Given the description of an element on the screen output the (x, y) to click on. 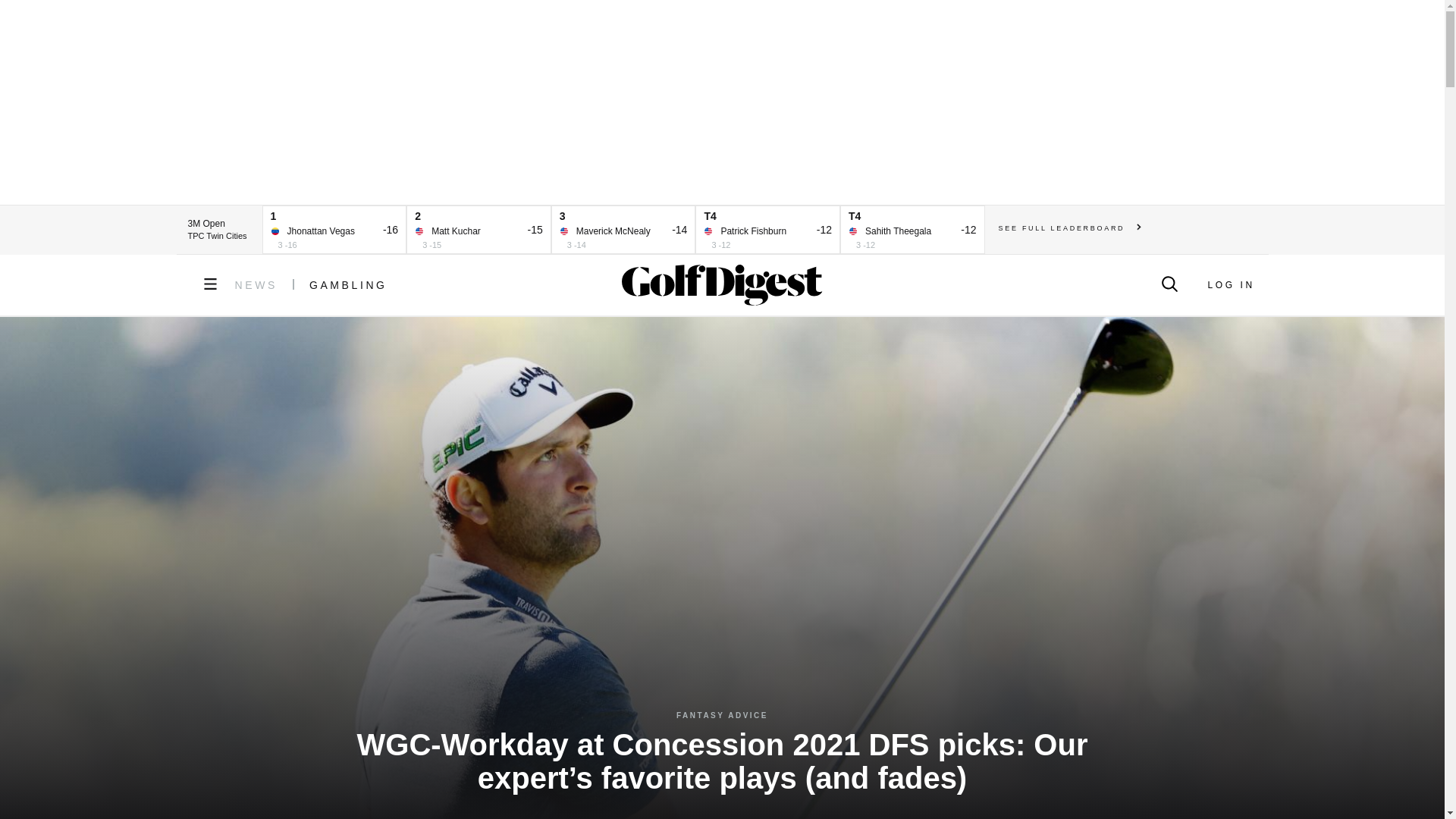
3rd party ad content (721, 101)
LOG IN (1230, 285)
GAMBLING (347, 285)
NEWS (256, 285)
SEE FULL LEADERBOARD (1069, 227)
